Given the description of an element on the screen output the (x, y) to click on. 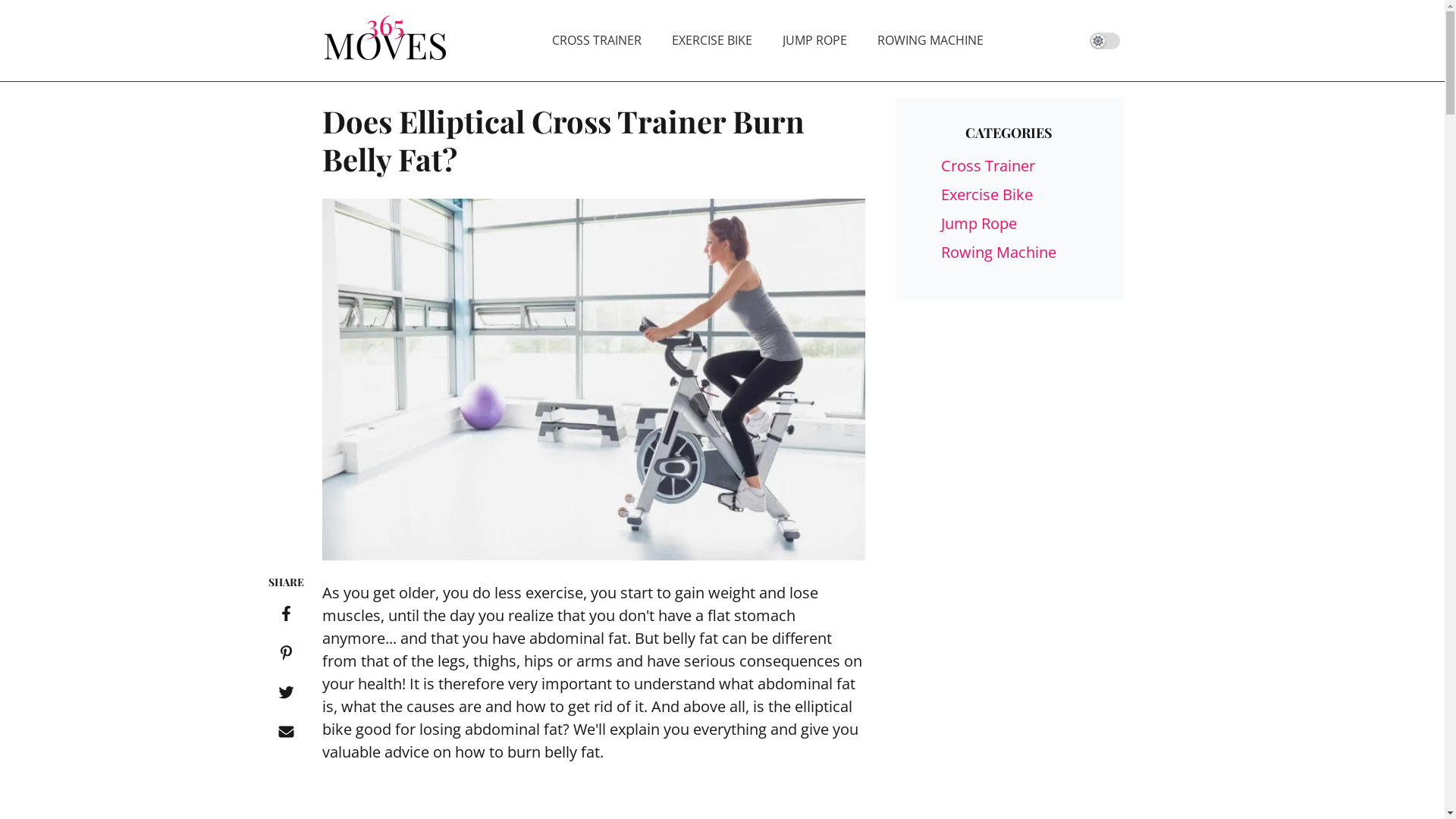
JUMP ROPE Element type: text (814, 39)
Exercise Bike Element type: text (986, 194)
EXERCISE BIKE Element type: text (711, 39)
Rowing Machine Element type: text (997, 251)
Cross Trainer Element type: text (987, 165)
ROWING MACHINE Element type: text (930, 39)
CROSS TRAINER Element type: text (596, 39)
Jump Rope Element type: text (978, 223)
